Given the description of an element on the screen output the (x, y) to click on. 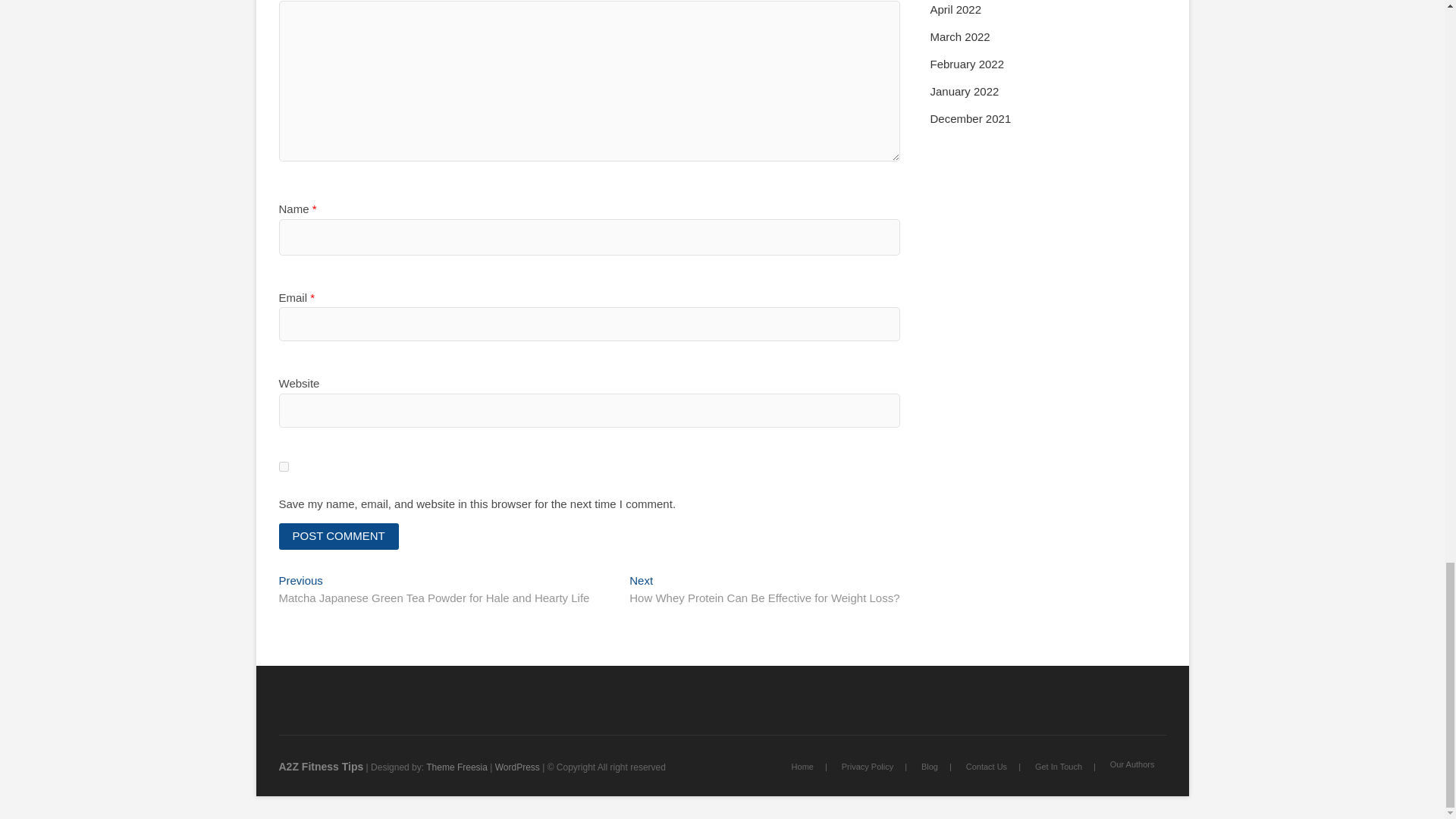
Post Comment (338, 536)
Post Comment (338, 536)
yes (283, 466)
